Given the description of an element on the screen output the (x, y) to click on. 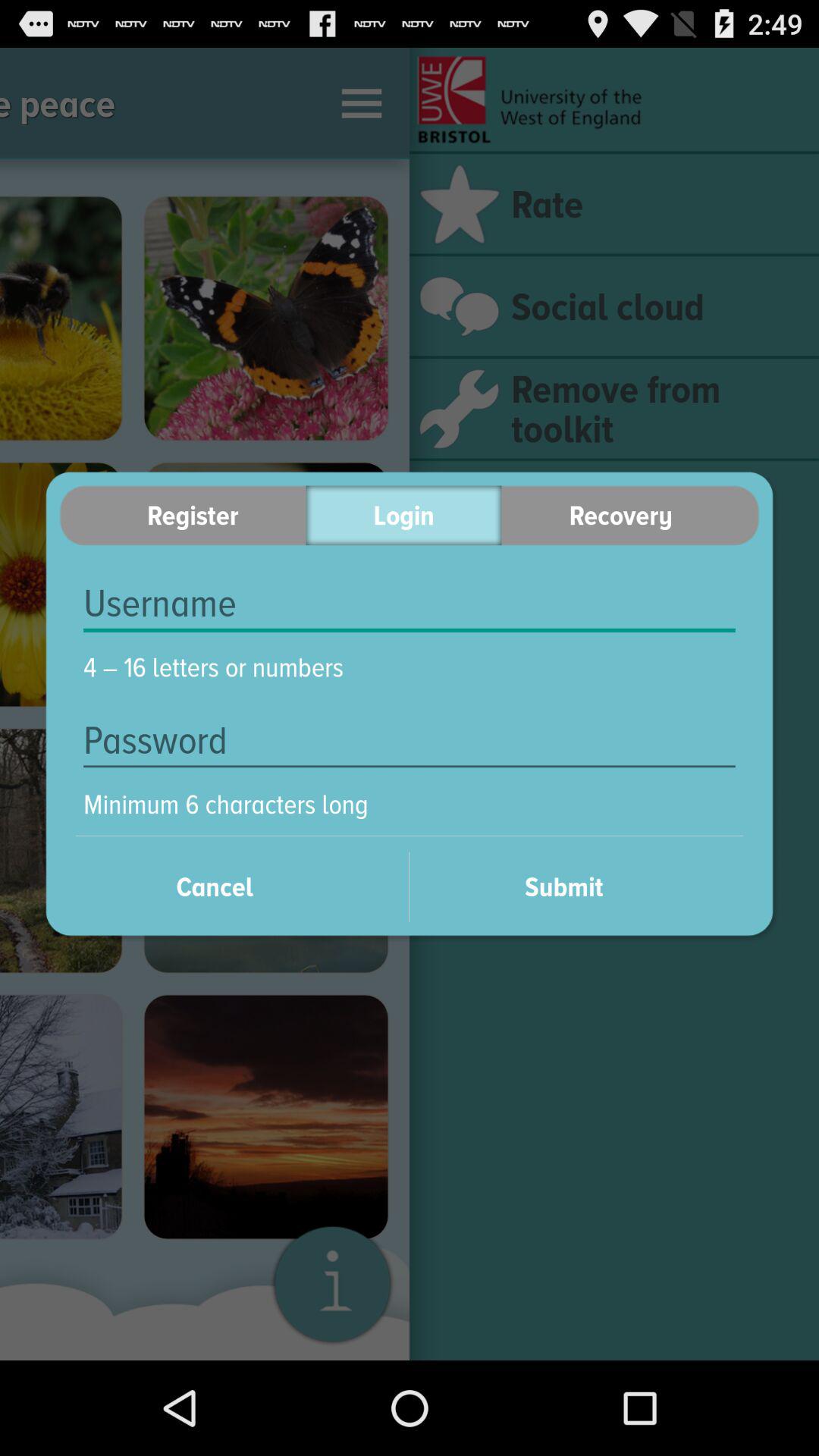
enter password (409, 740)
